Given the description of an element on the screen output the (x, y) to click on. 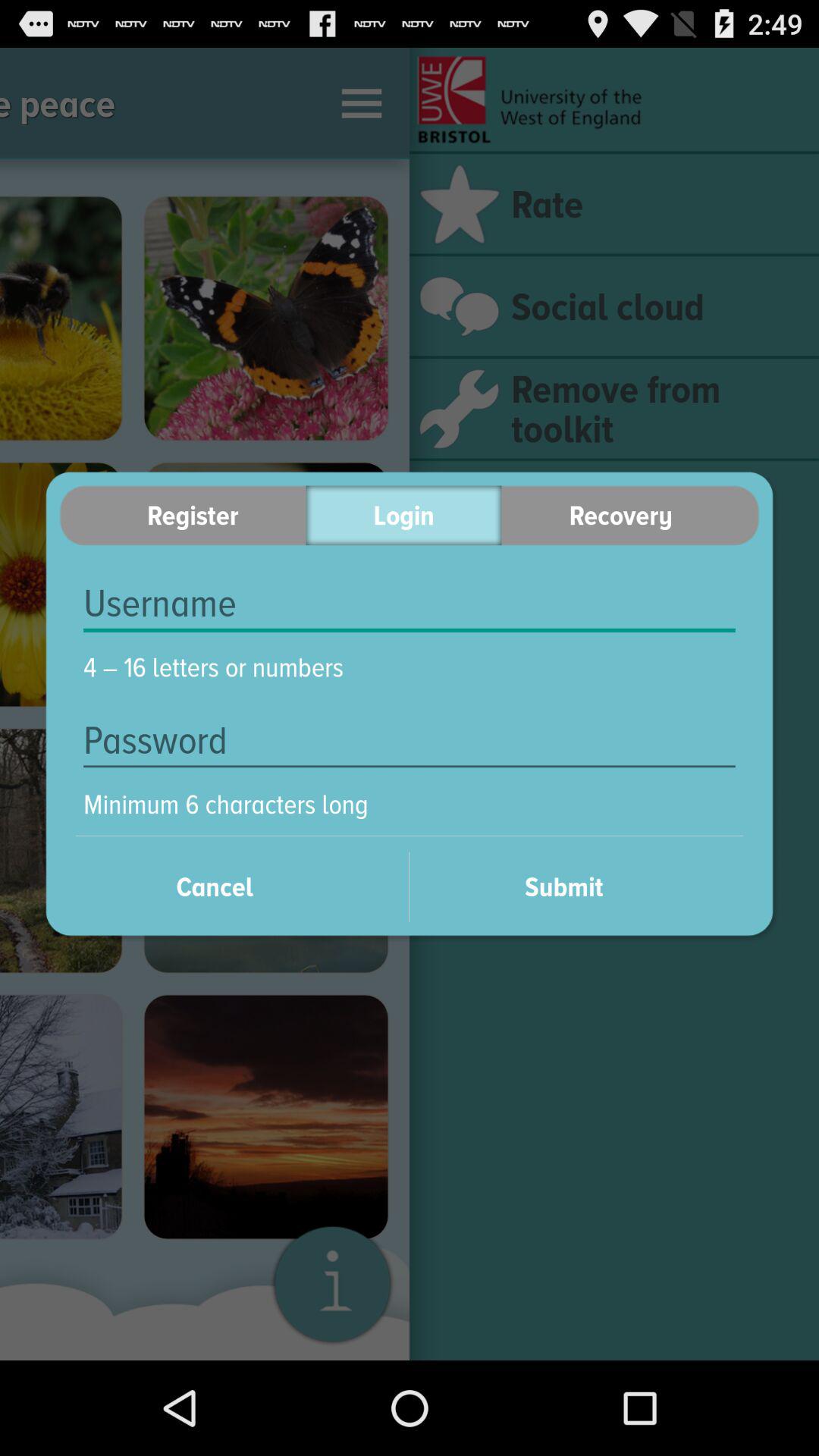
enter password (409, 740)
